Given the description of an element on the screen output the (x, y) to click on. 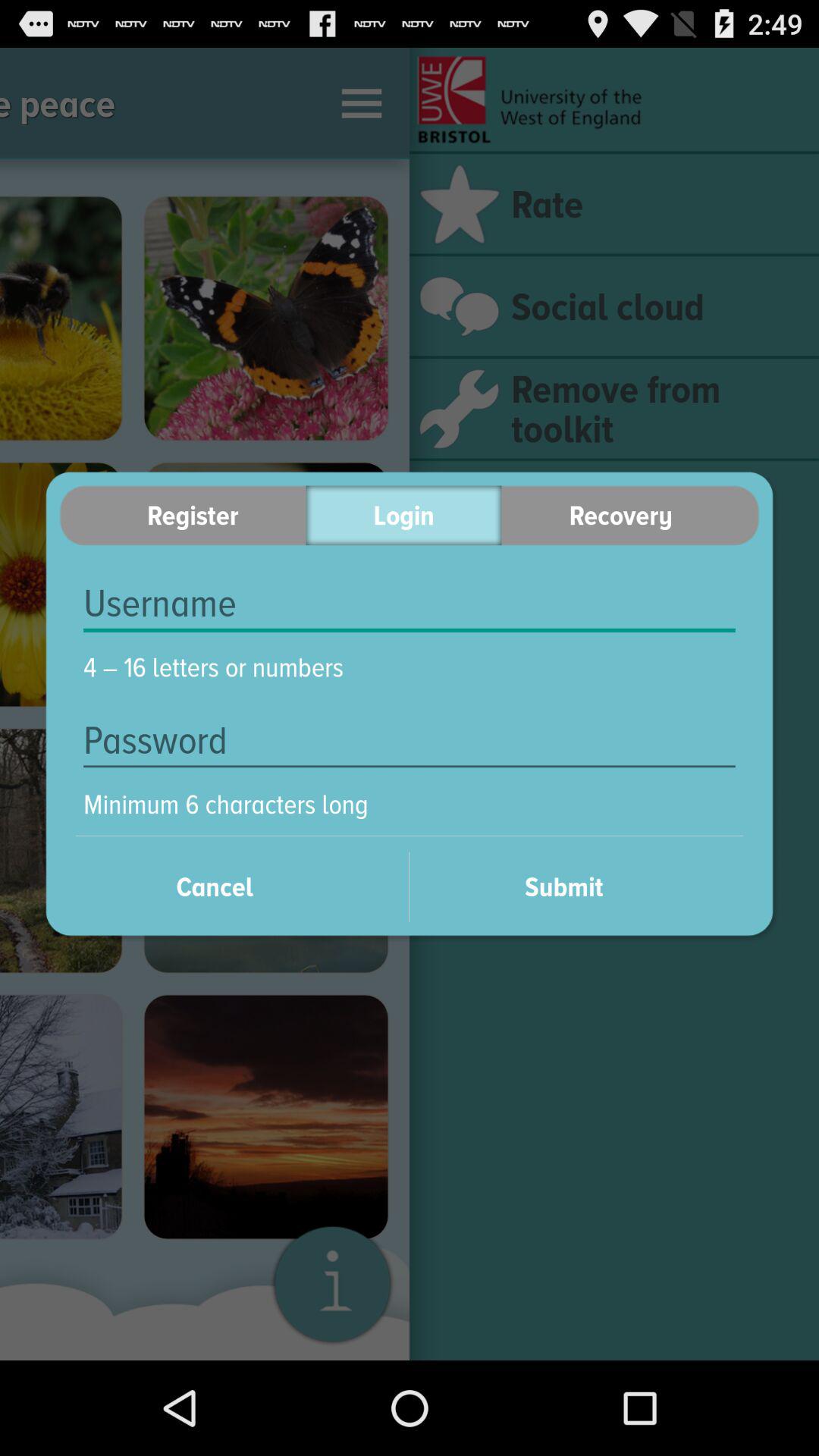
enter password (409, 740)
